Given the description of an element on the screen output the (x, y) to click on. 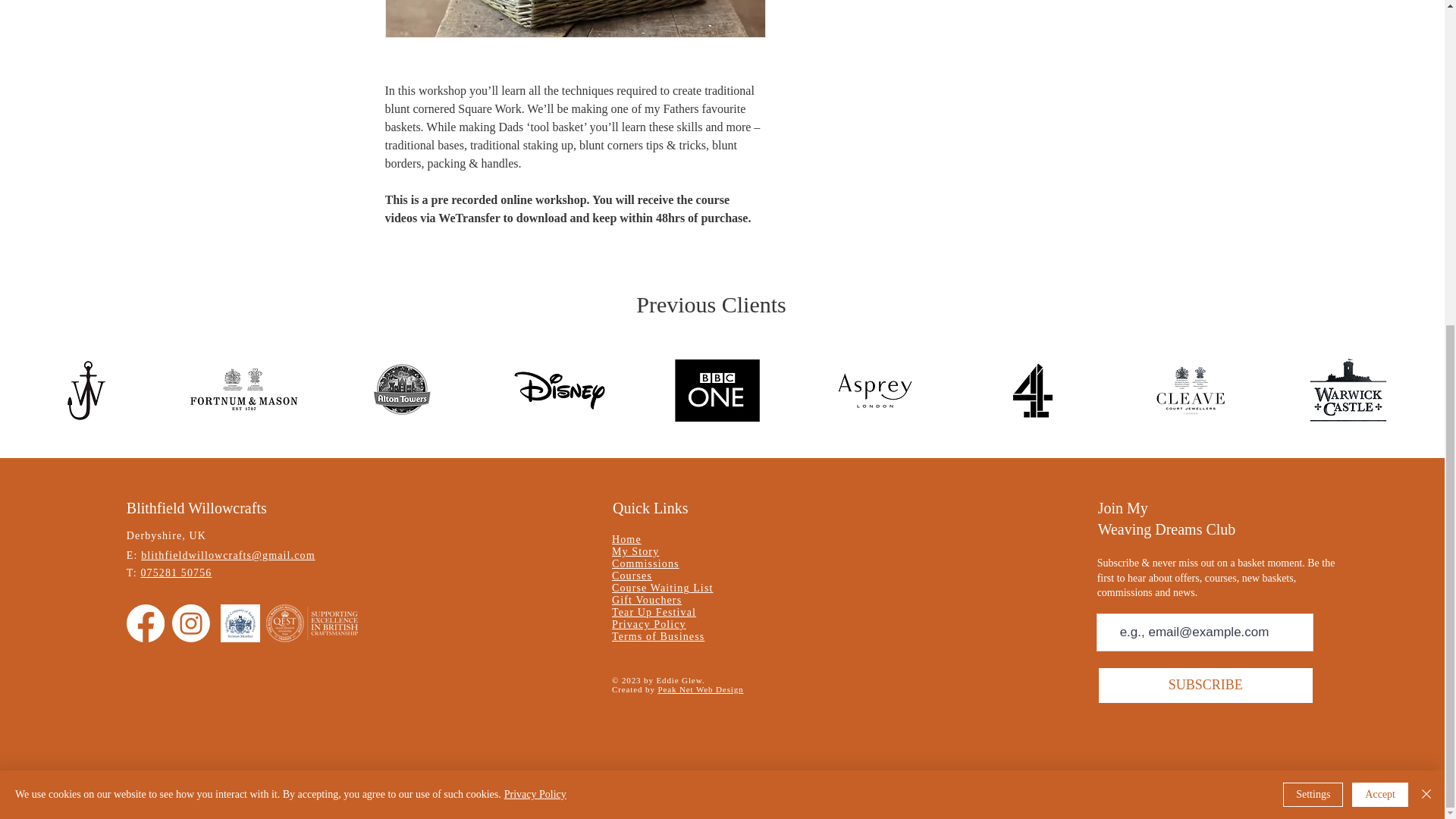
Accept (1379, 260)
Course Waiting List (662, 587)
Privacy Policy (648, 624)
My Story (635, 551)
Commissions (645, 563)
Courses (631, 575)
Peak Net Web Design (700, 688)
Gift Vouchers (646, 600)
075281 50756 (175, 572)
SUBSCRIBE (1205, 685)
